Given the description of an element on the screen output the (x, y) to click on. 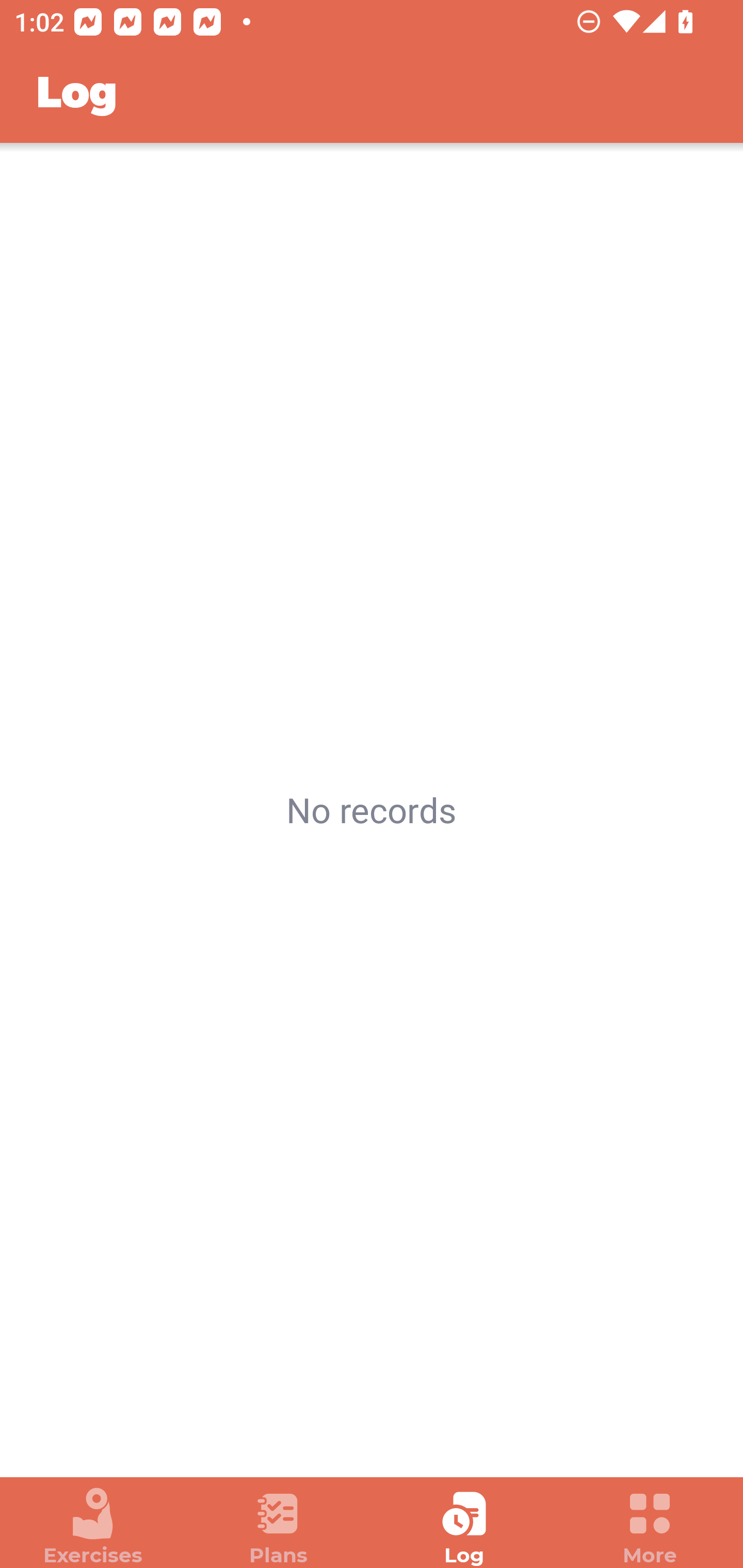
Exercises (92, 1527)
Plans (278, 1527)
Log (464, 1527)
More (650, 1527)
